Given the description of an element on the screen output the (x, y) to click on. 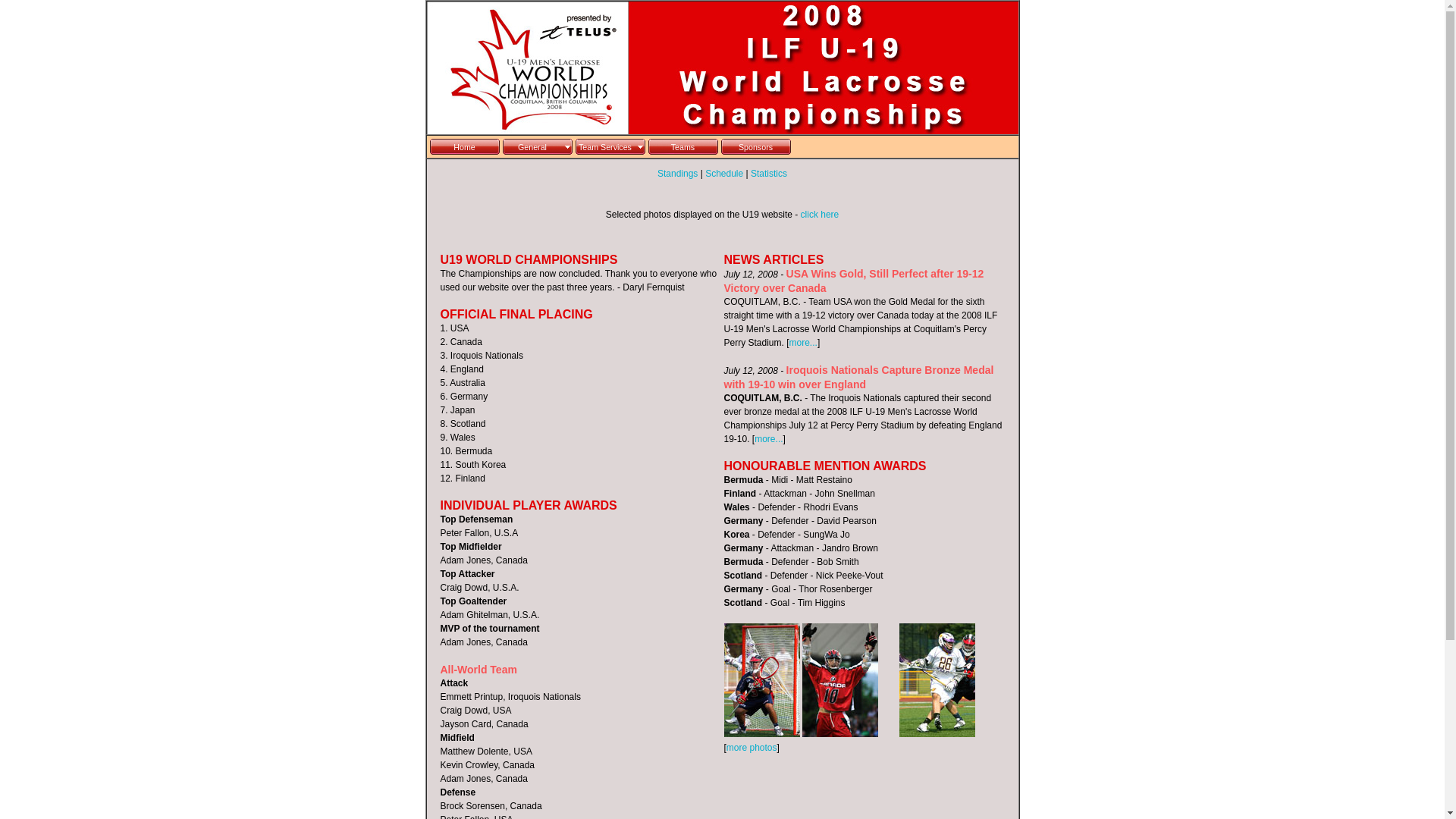
Teams Element type: text (682, 146)
click here Element type: text (819, 214)
Statistics Element type: text (768, 173)
more photos Element type: text (751, 747)
Team Services Element type: text (609, 146)
Standings Element type: text (677, 173)
more... Element type: text (803, 342)
Home Element type: text (463, 146)
Schedule Element type: text (724, 173)
Sponsors Element type: text (755, 146)
General Element type: text (536, 146)
more... Element type: text (768, 438)
